Given the description of an element on the screen output the (x, y) to click on. 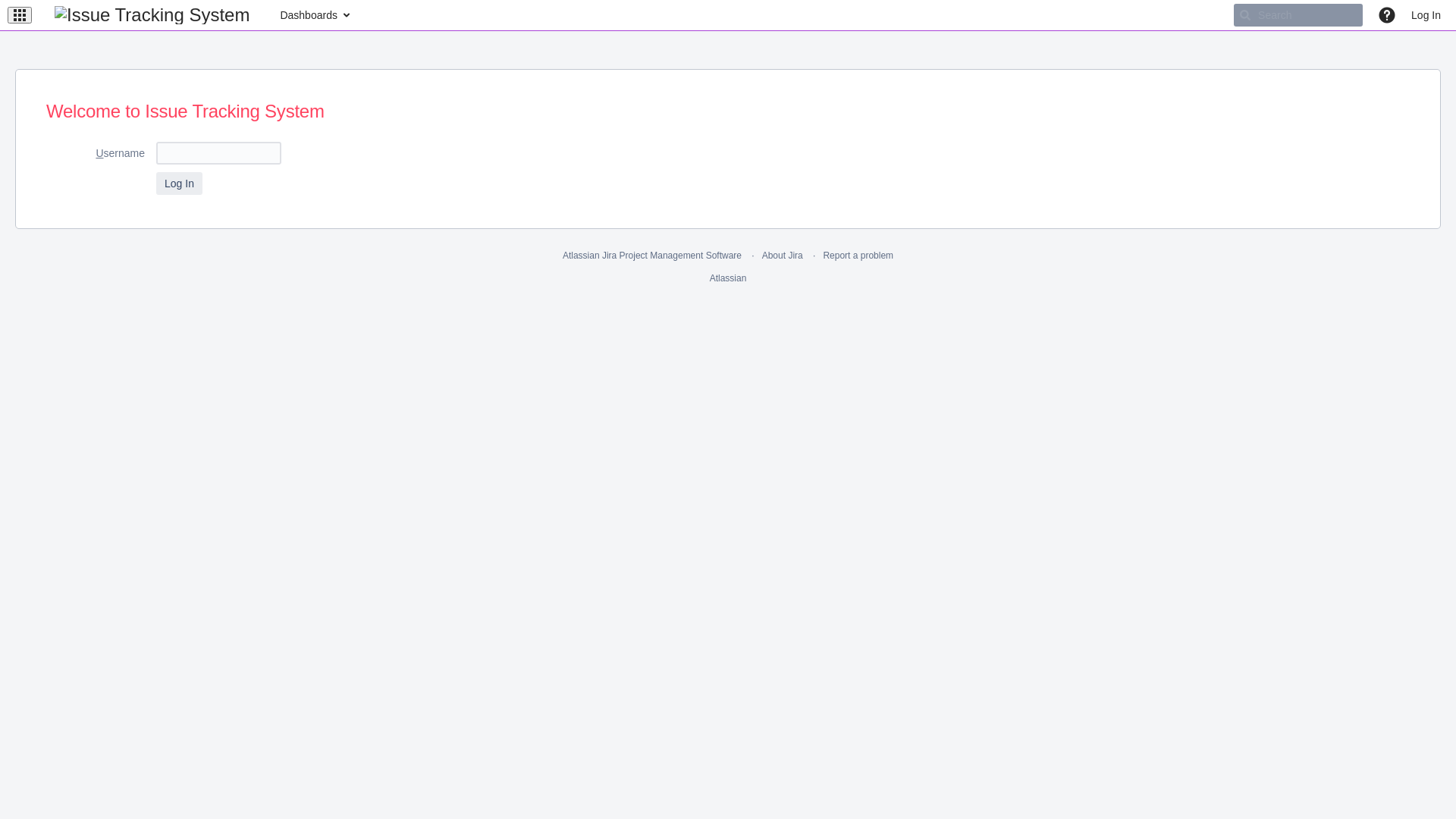
Project Management Software Element type: text (680, 255)
Search Element type: hover (1297, 14)
Log In Element type: text (179, 183)
Report a problem Element type: text (857, 255)
Linked Applications Element type: text (19, 14)
Press Alt+s to submit this form Element type: hover (179, 183)
Log In Element type: text (1425, 15)
Atlassian Element type: text (727, 278)
About Jira Element type: text (782, 255)
Dashboards Element type: text (313, 15)
Help Element type: text (1386, 15)
